Given the description of an element on the screen output the (x, y) to click on. 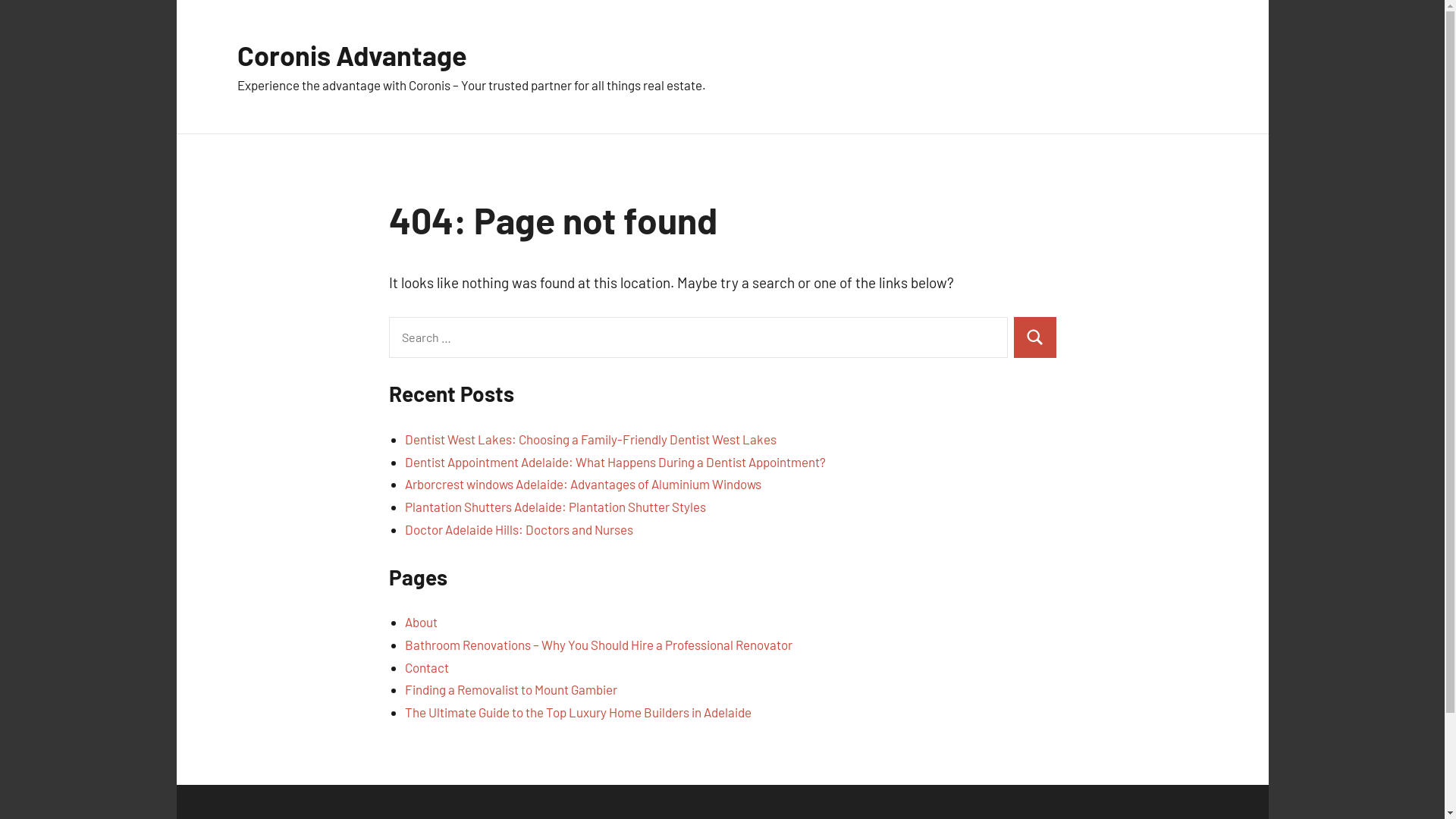
Coronis Advantage Element type: text (351, 54)
Search Element type: text (1034, 336)
Plantation Shutters Adelaide: Plantation Shutter Styles Element type: text (555, 506)
About Element type: text (420, 621)
Finding a Removalist to Mount Gambier Element type: text (510, 688)
Search for: Element type: hover (697, 336)
Arborcrest windows Adelaide: Advantages of Aluminium Windows Element type: text (582, 483)
Contact Element type: text (426, 666)
Doctor Adelaide Hills: Doctors and Nurses Element type: text (518, 528)
